Given the description of an element on the screen output the (x, y) to click on. 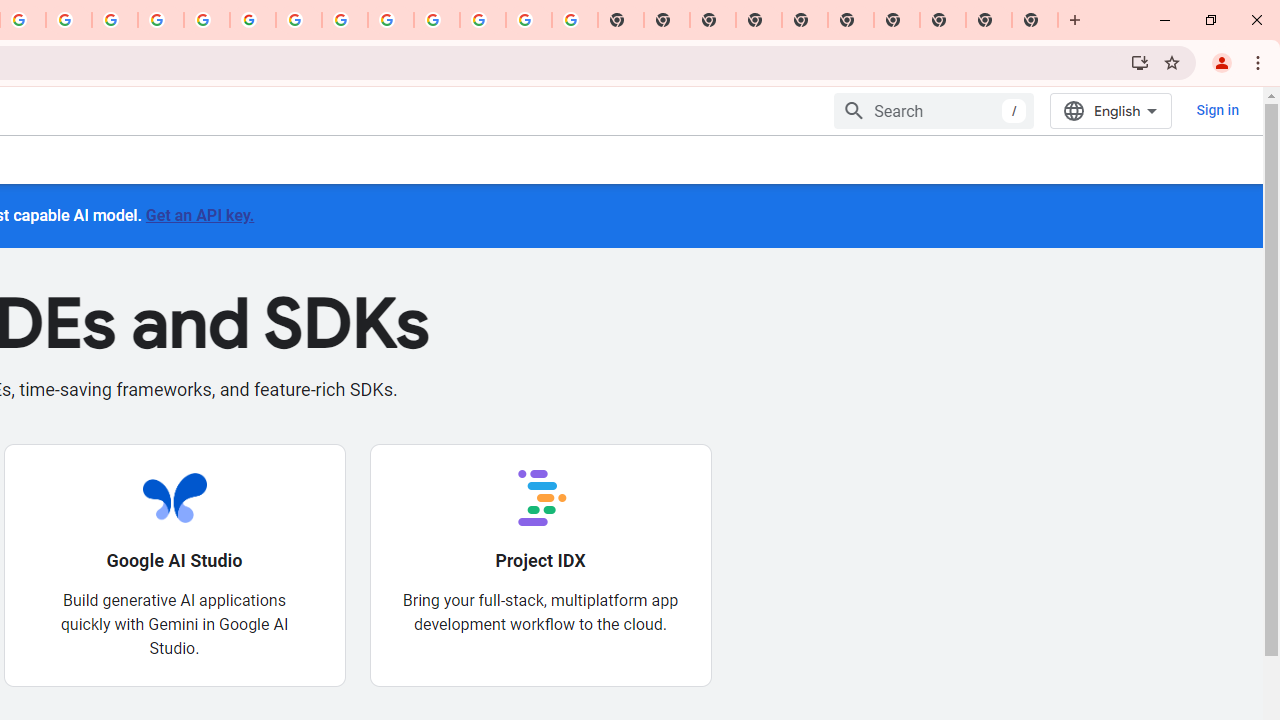
YouTube (299, 20)
Privacy Help Center - Policies Help (115, 20)
New Tab (1035, 20)
Install Google Developers (1139, 62)
Google Images (574, 20)
